Given the description of an element on the screen output the (x, y) to click on. 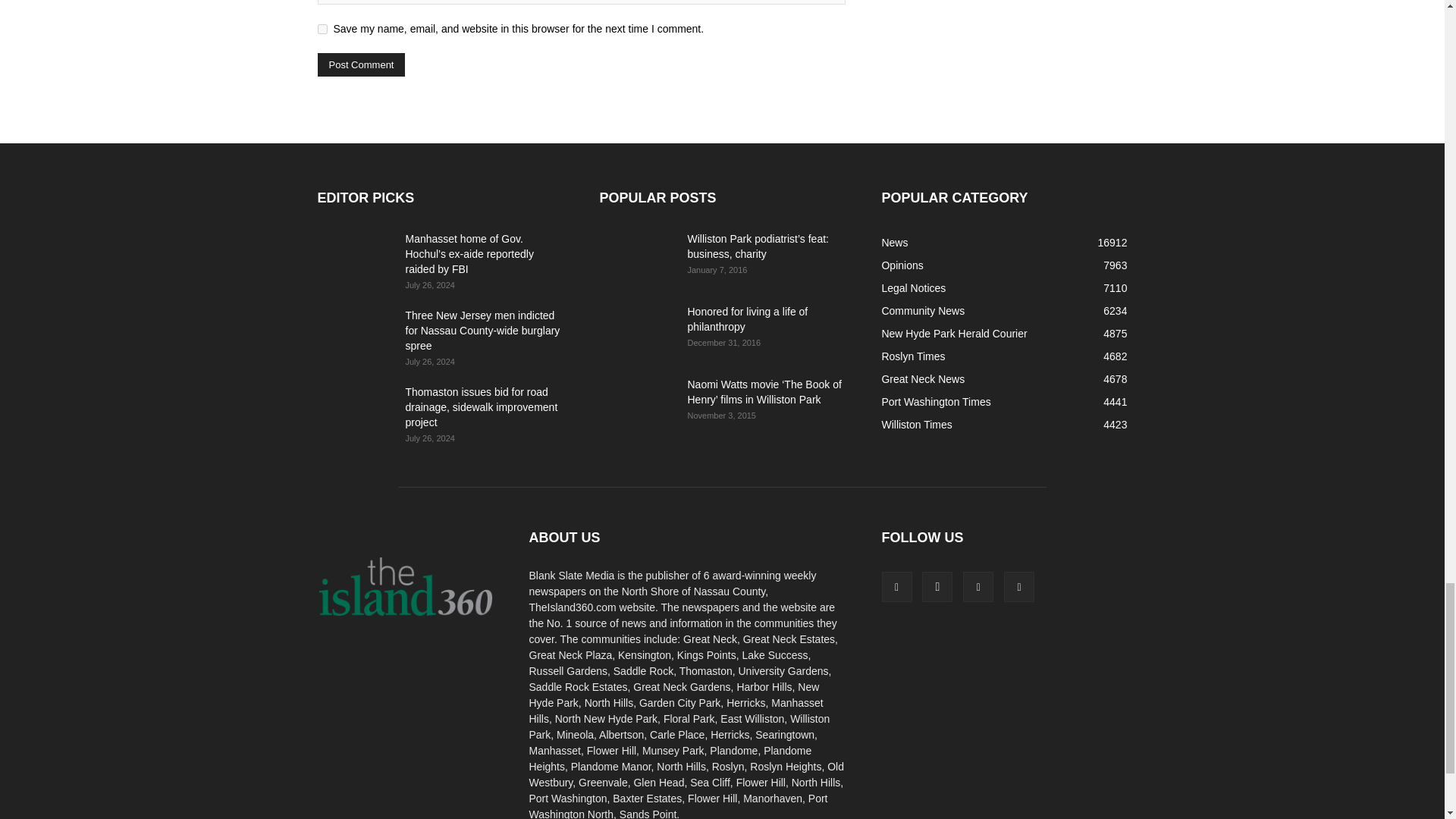
Post Comment (360, 64)
yes (321, 29)
